Given the description of an element on the screen output the (x, y) to click on. 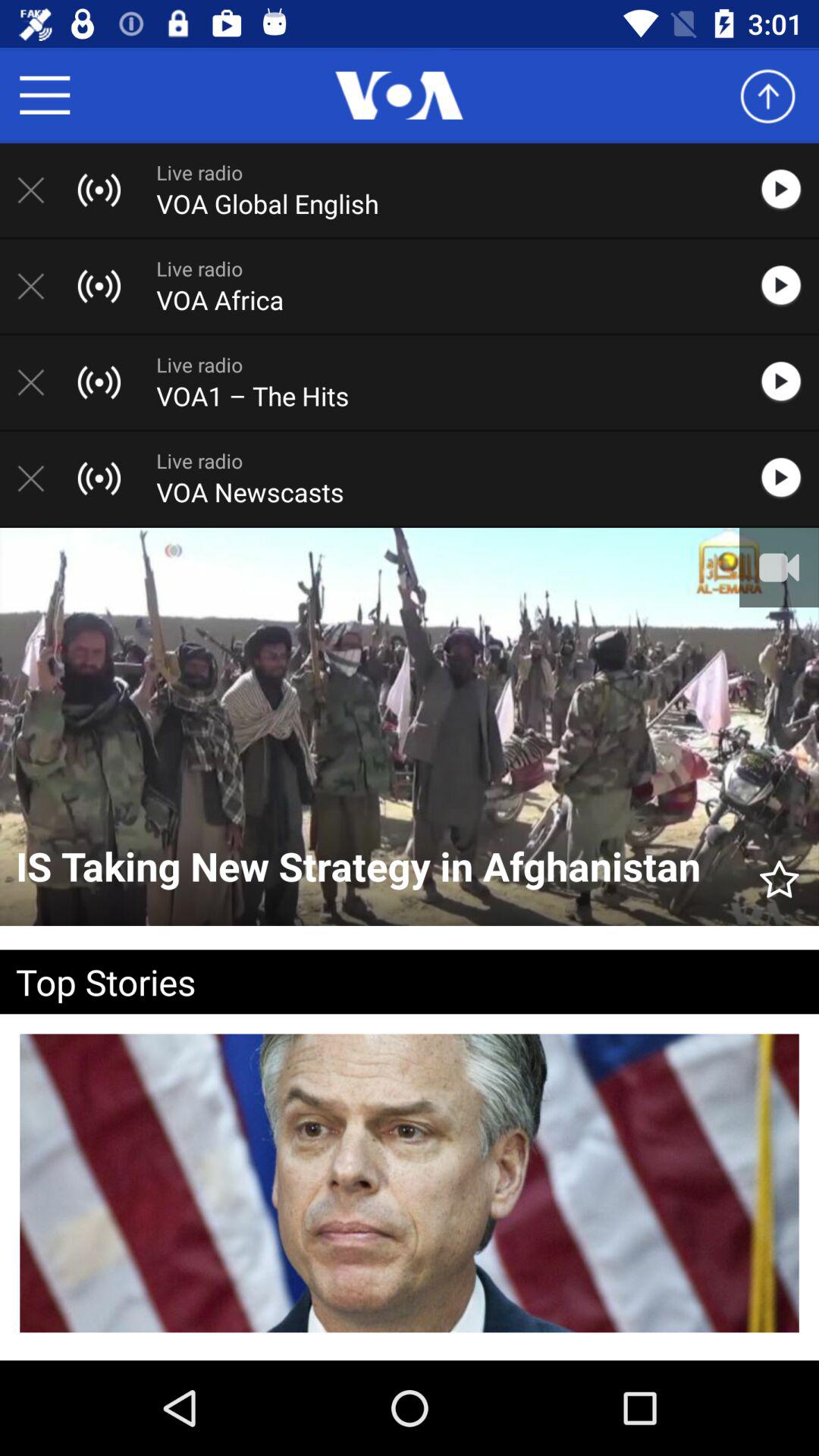
menu items (44, 95)
